Given the description of an element on the screen output the (x, y) to click on. 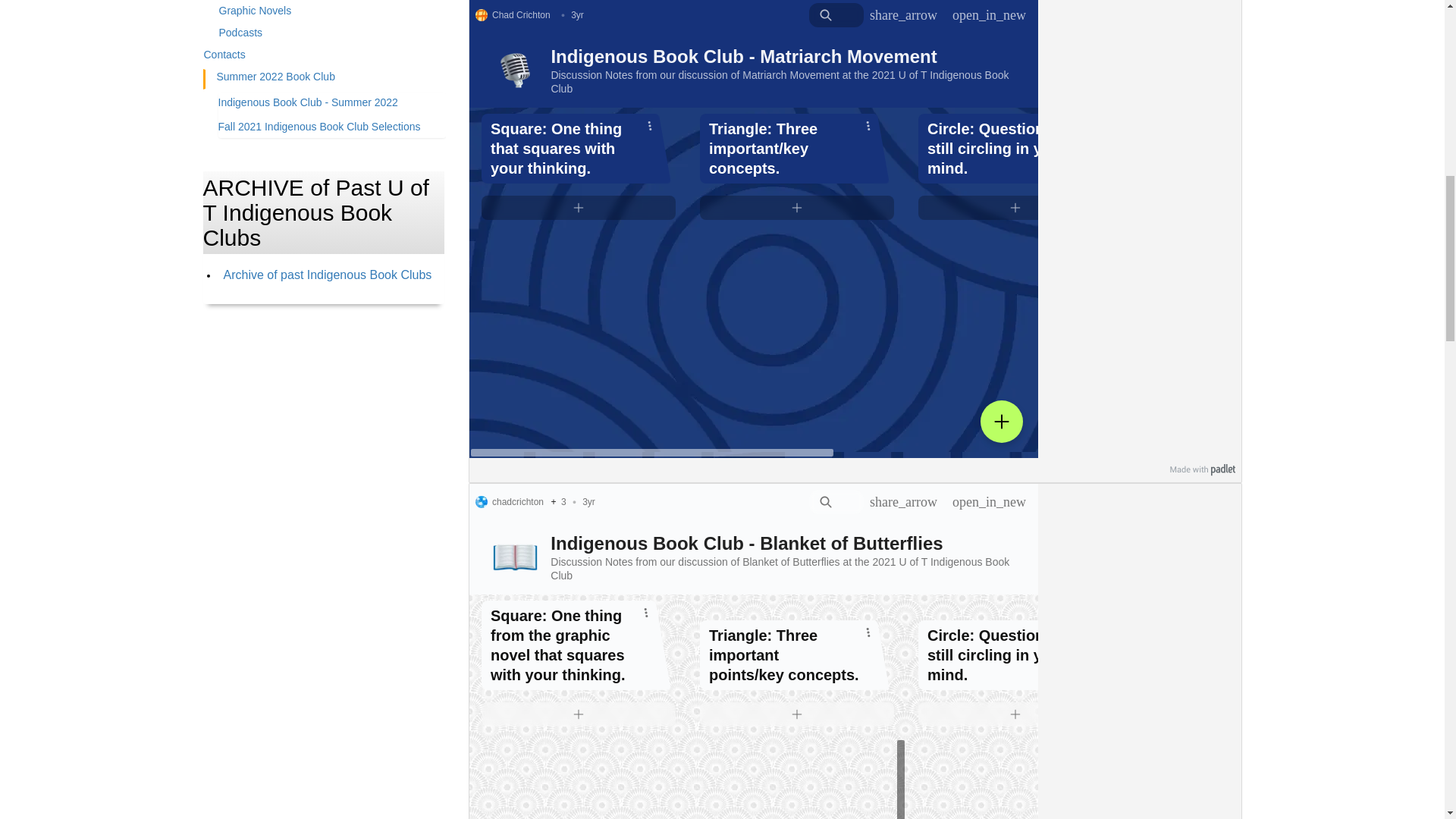
Podcasts (331, 35)
Graphic Novels (331, 13)
Contacts (324, 56)
